Given the description of an element on the screen output the (x, y) to click on. 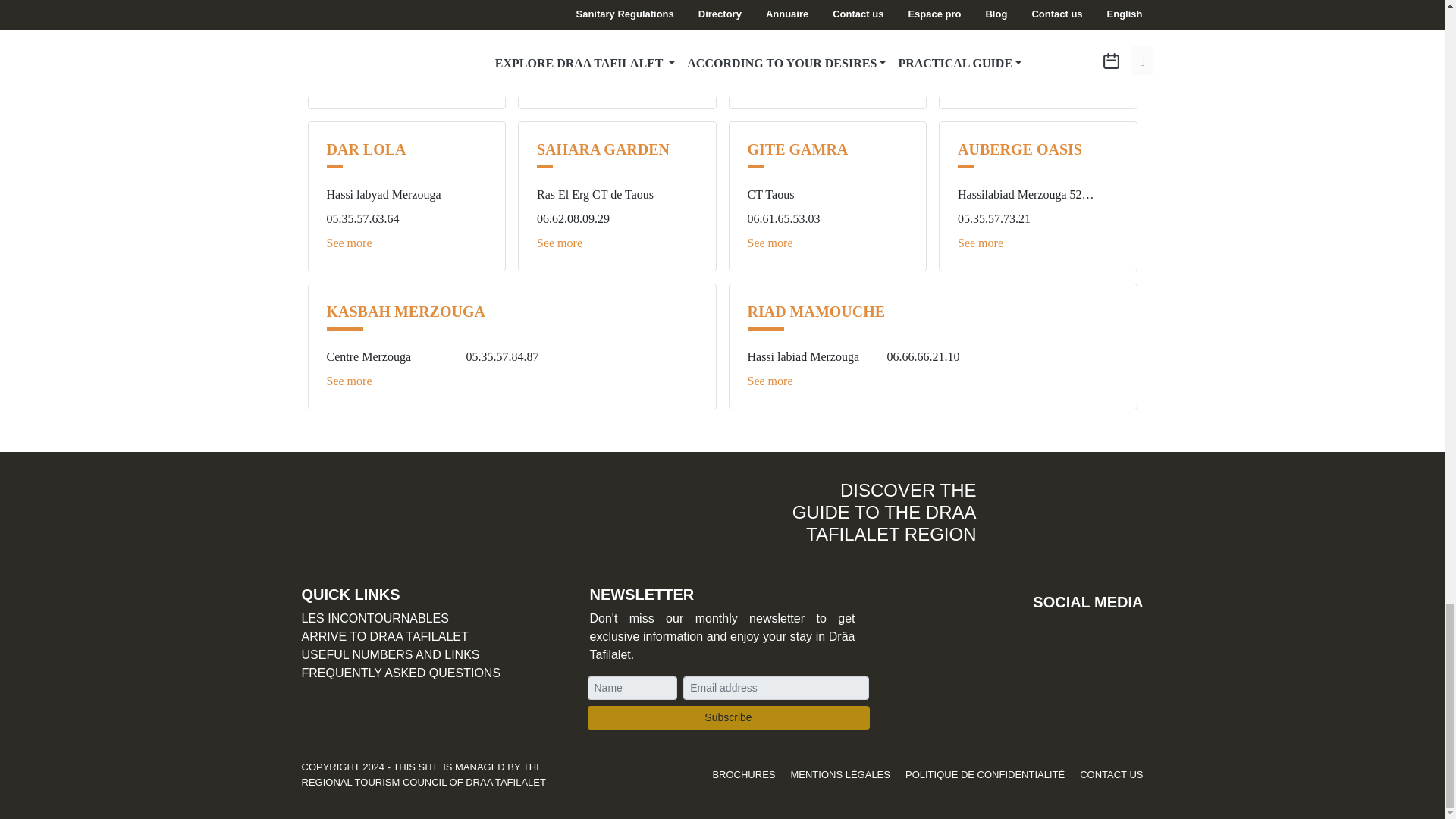
Subscribe (727, 717)
